Given the description of an element on the screen output the (x, y) to click on. 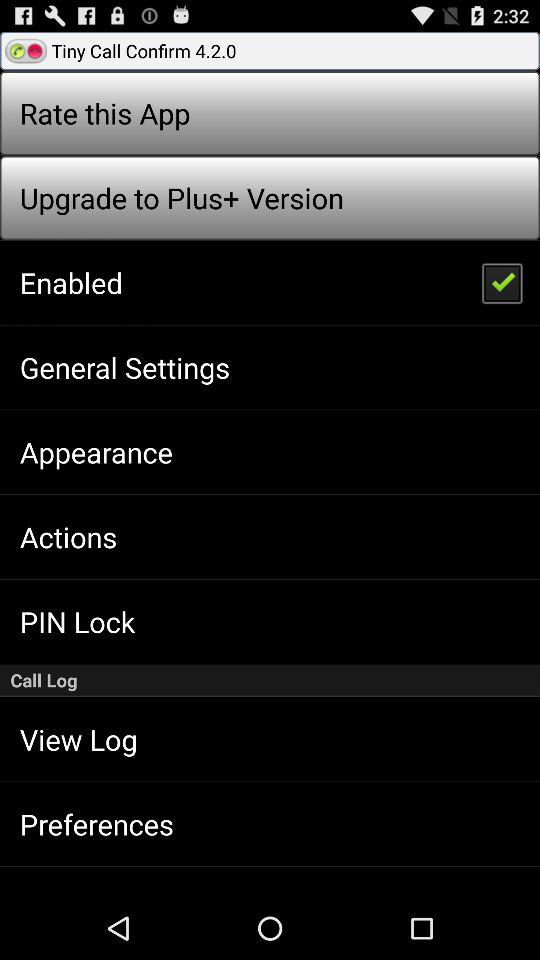
swipe to the actions (68, 536)
